Given the description of an element on the screen output the (x, y) to click on. 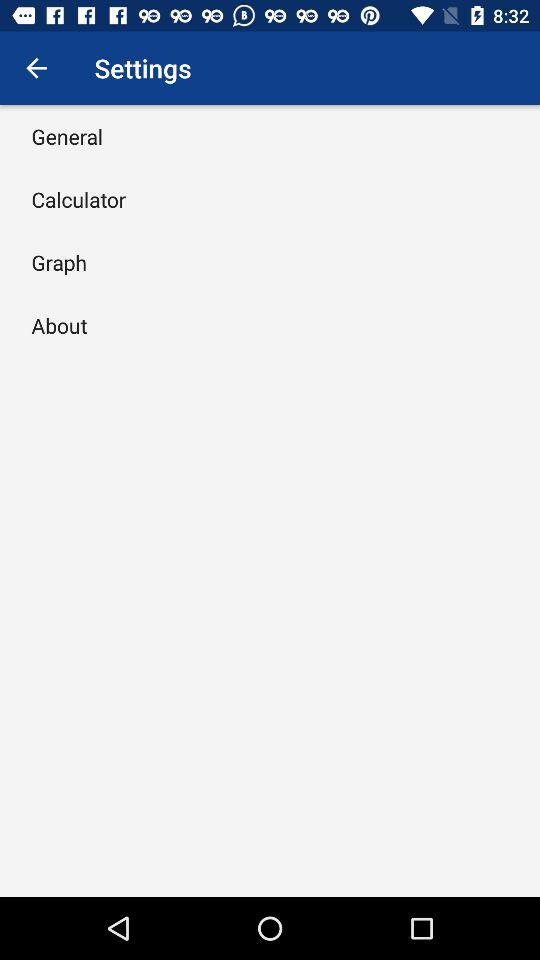
launch item above the general item (36, 68)
